Given the description of an element on the screen output the (x, y) to click on. 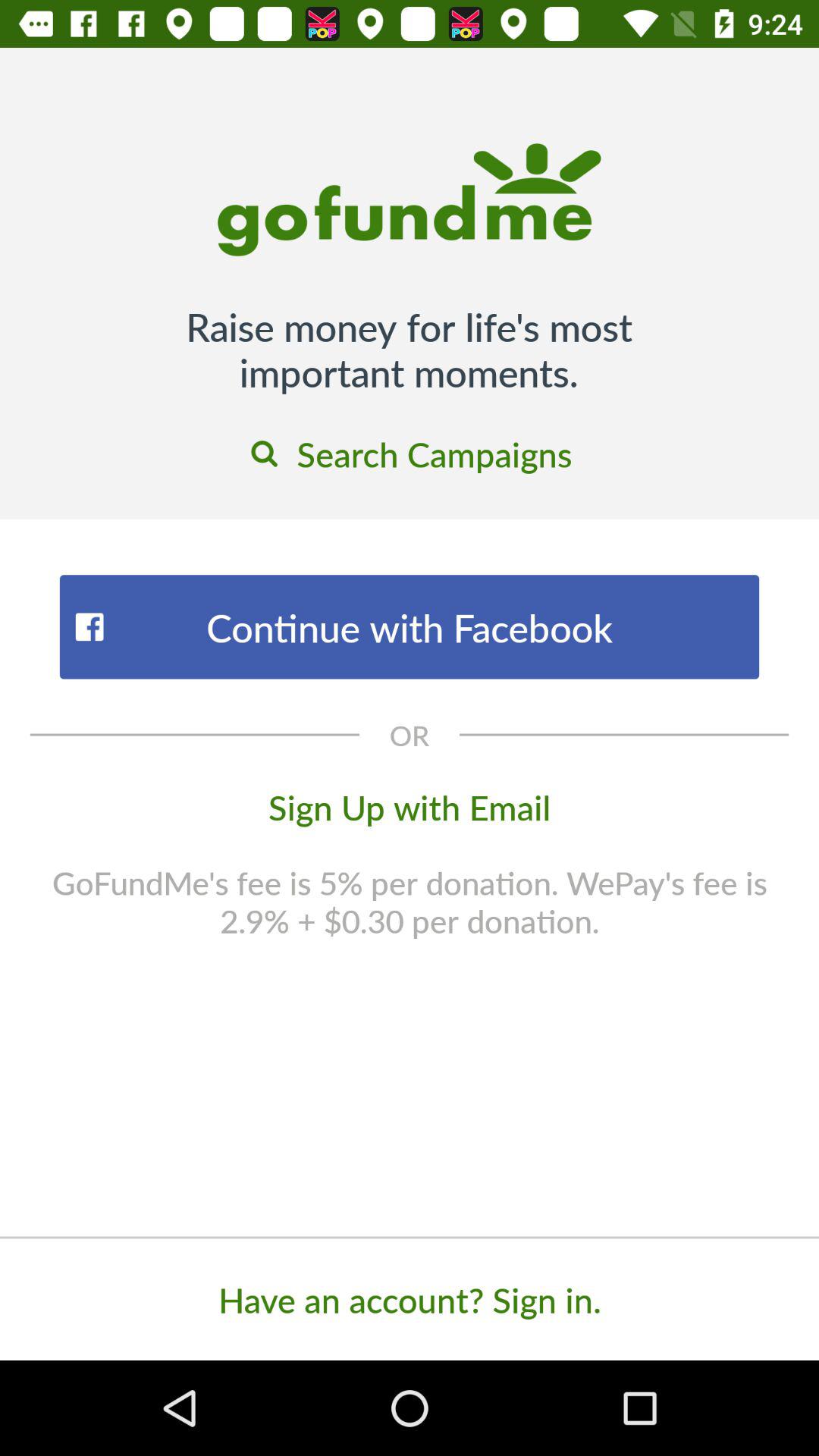
flip until the sign up with (409, 806)
